Given the description of an element on the screen output the (x, y) to click on. 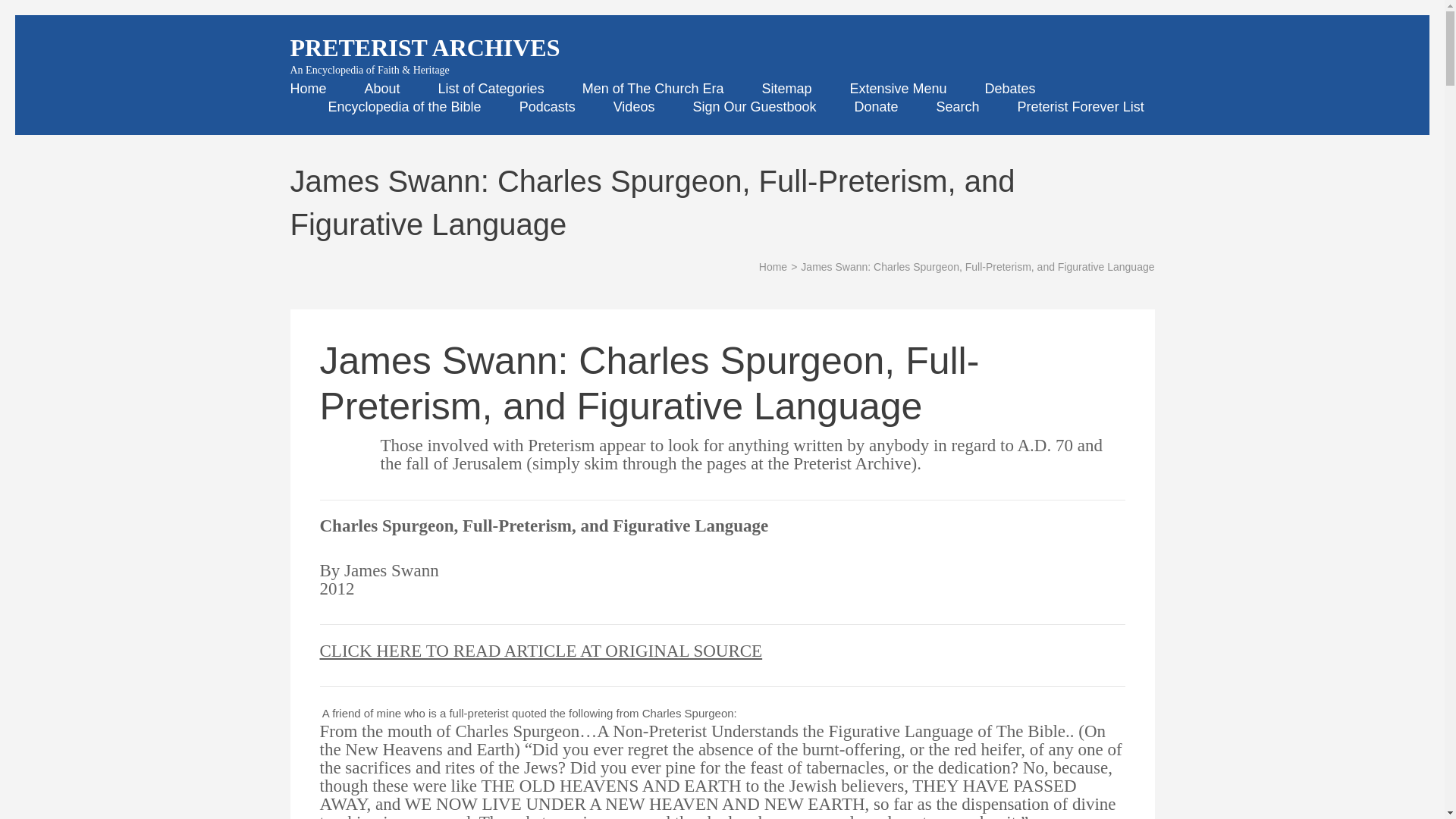
Extensive Menu (897, 88)
Preterist Forever List (1080, 106)
Debates (1010, 88)
Podcasts (547, 106)
PRETERIST ARCHIVES (424, 47)
Men of The Church Era (652, 88)
Donate (875, 106)
Search (957, 106)
CLICK HERE TO READ ARTICLE AT ORIGINAL SOURCE (541, 650)
Sitemap (785, 88)
